Given the description of an element on the screen output the (x, y) to click on. 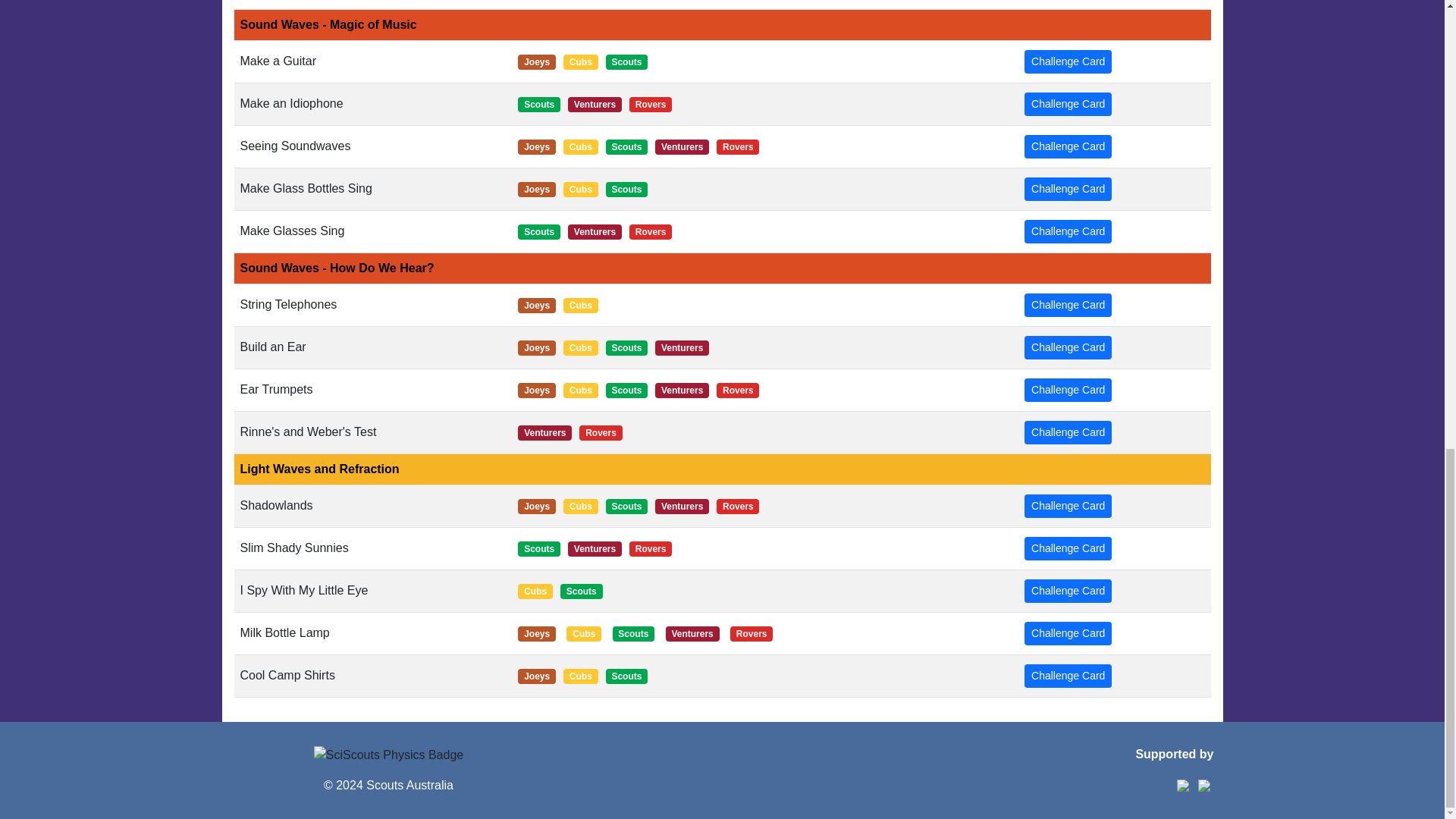
Challenge Card (1068, 633)
Challenge Card (1068, 61)
Challenge Card (1068, 590)
Challenge Card (1068, 390)
Challenge Card (1068, 146)
Challenge Card (1068, 304)
Challenge Card (1068, 548)
Challenge Card (1068, 347)
Challenge Card (1068, 231)
Challenge Card (1068, 505)
